Given the description of an element on the screen output the (x, y) to click on. 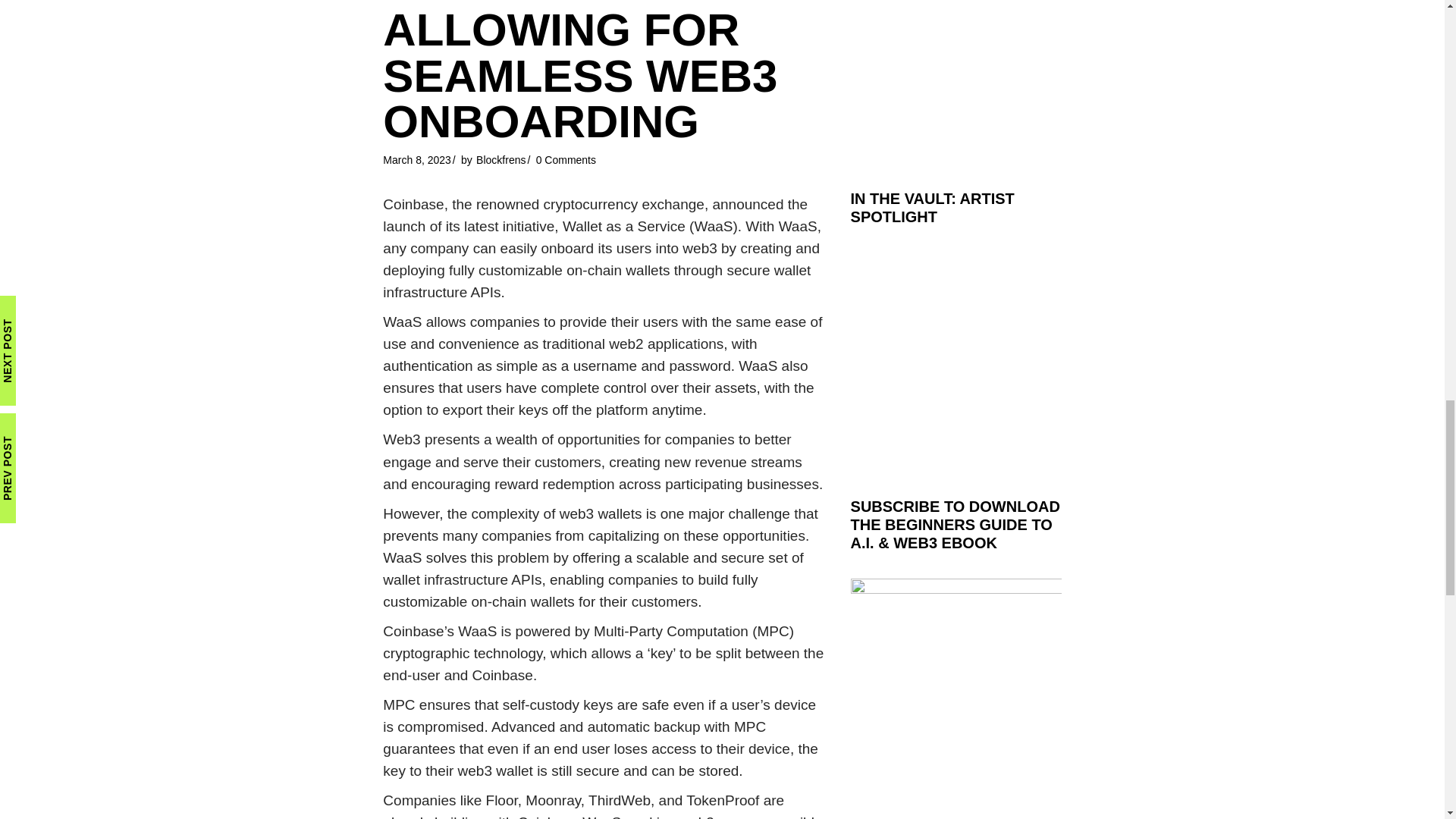
Blockfrens (500, 160)
Title Text:  (416, 160)
0 Comments (565, 160)
March 8, 2023 (416, 160)
